Given the description of an element on the screen output the (x, y) to click on. 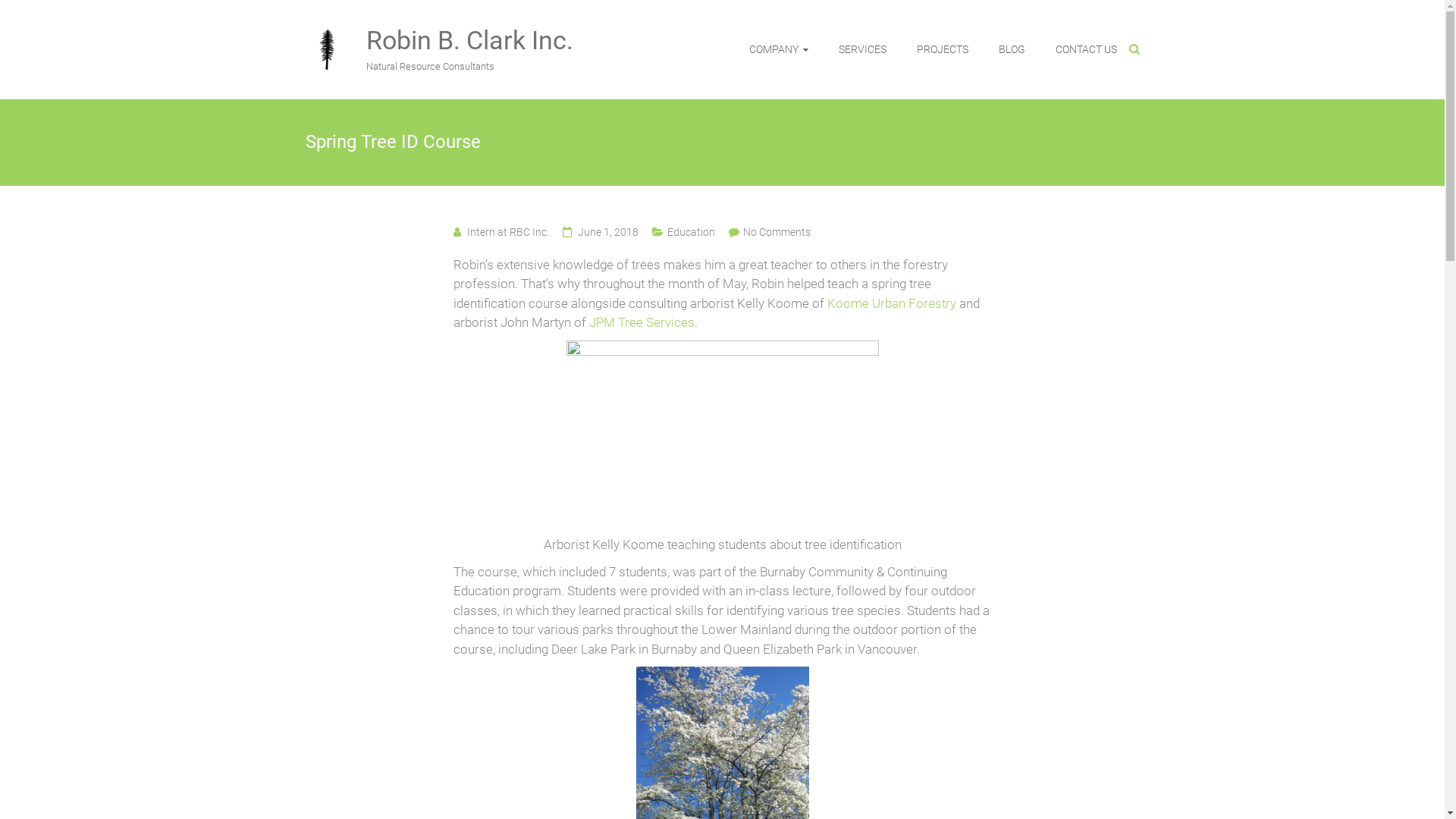
Koome Urban Forestry Element type: text (890, 302)
JPM Tree Services Element type: text (640, 321)
Robin B. Clark Inc. Element type: hover (327, 34)
PROJECTS Element type: text (941, 48)
June 1, 2018 Element type: text (607, 231)
CONTACT US Element type: text (1086, 48)
No Comments Element type: text (776, 231)
SERVICES Element type: text (862, 48)
Robin B. Clark Inc. Element type: text (468, 40)
BLOG Element type: text (1010, 48)
Intern at RBC Inc. Element type: text (508, 231)
Education Element type: text (691, 231)
COMPANY Element type: text (778, 48)
